Given the description of an element on the screen output the (x, y) to click on. 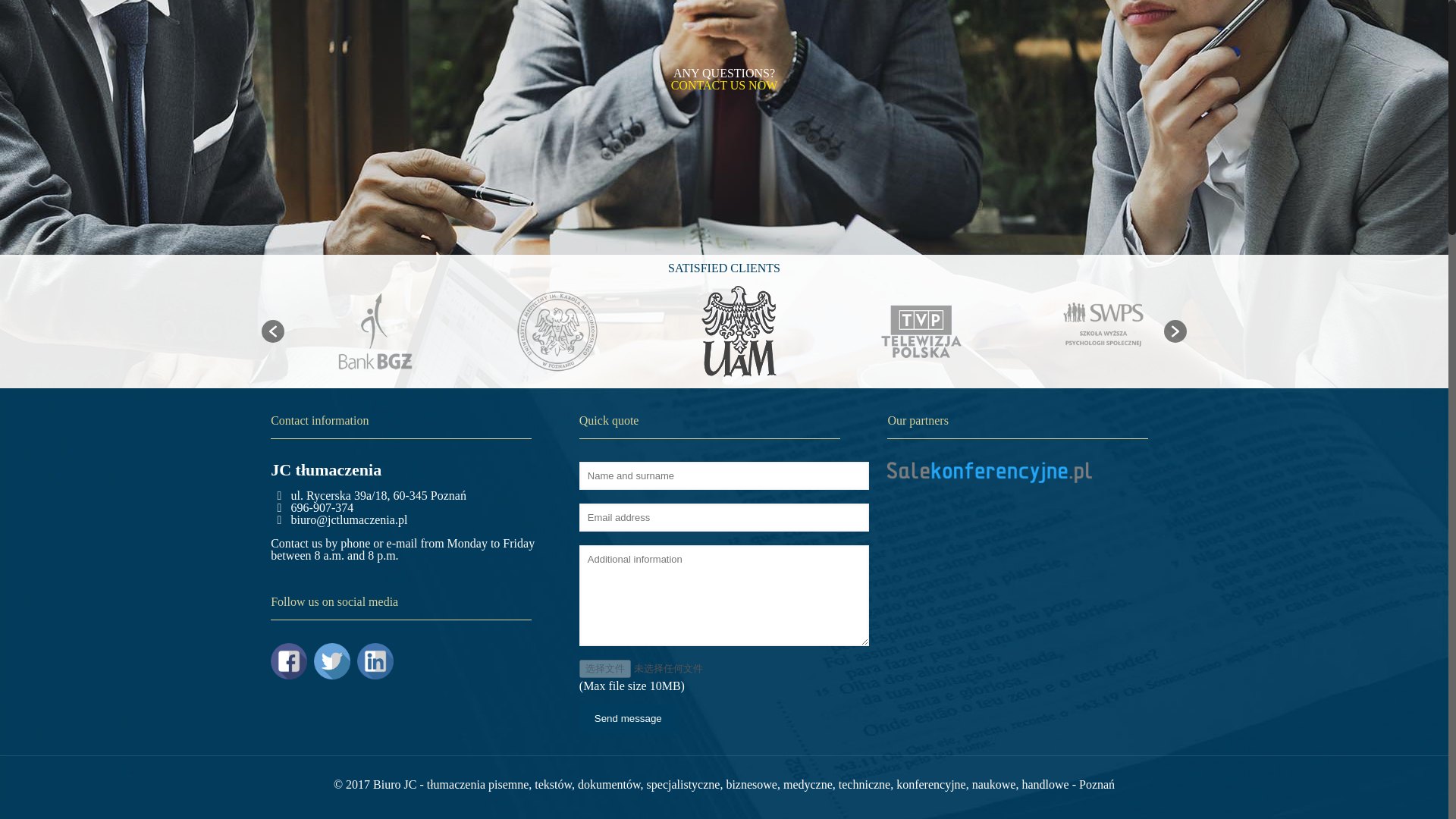
Send message (628, 718)
